Given the description of an element on the screen output the (x, y) to click on. 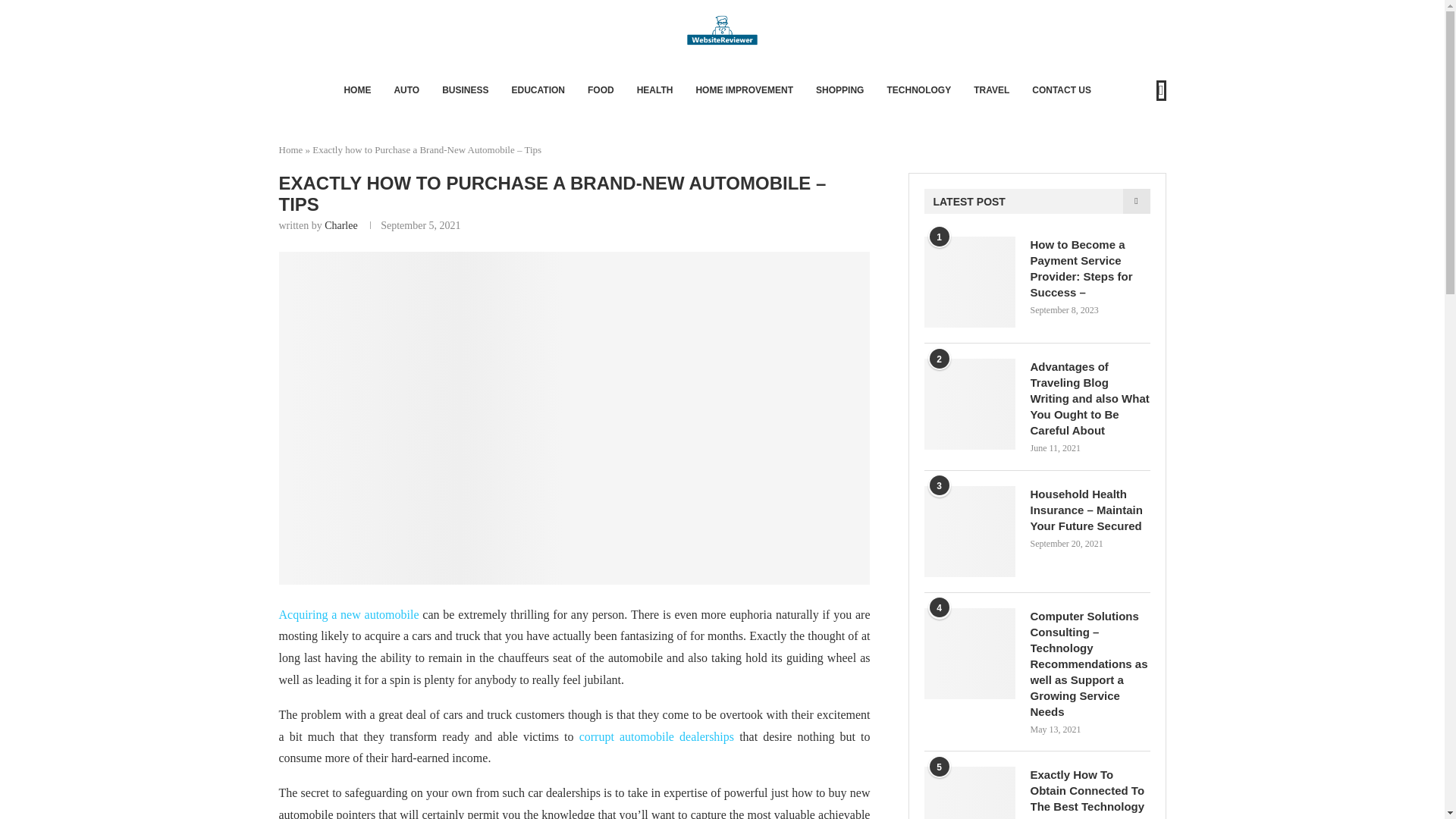
SHOPPING (839, 89)
EDUCATION (538, 89)
CONTACT US (1061, 89)
HOME IMPROVEMENT (744, 89)
TECHNOLOGY (918, 89)
Search (1117, 122)
BUSINESS (464, 89)
Search (1117, 9)
